Given the description of an element on the screen output the (x, y) to click on. 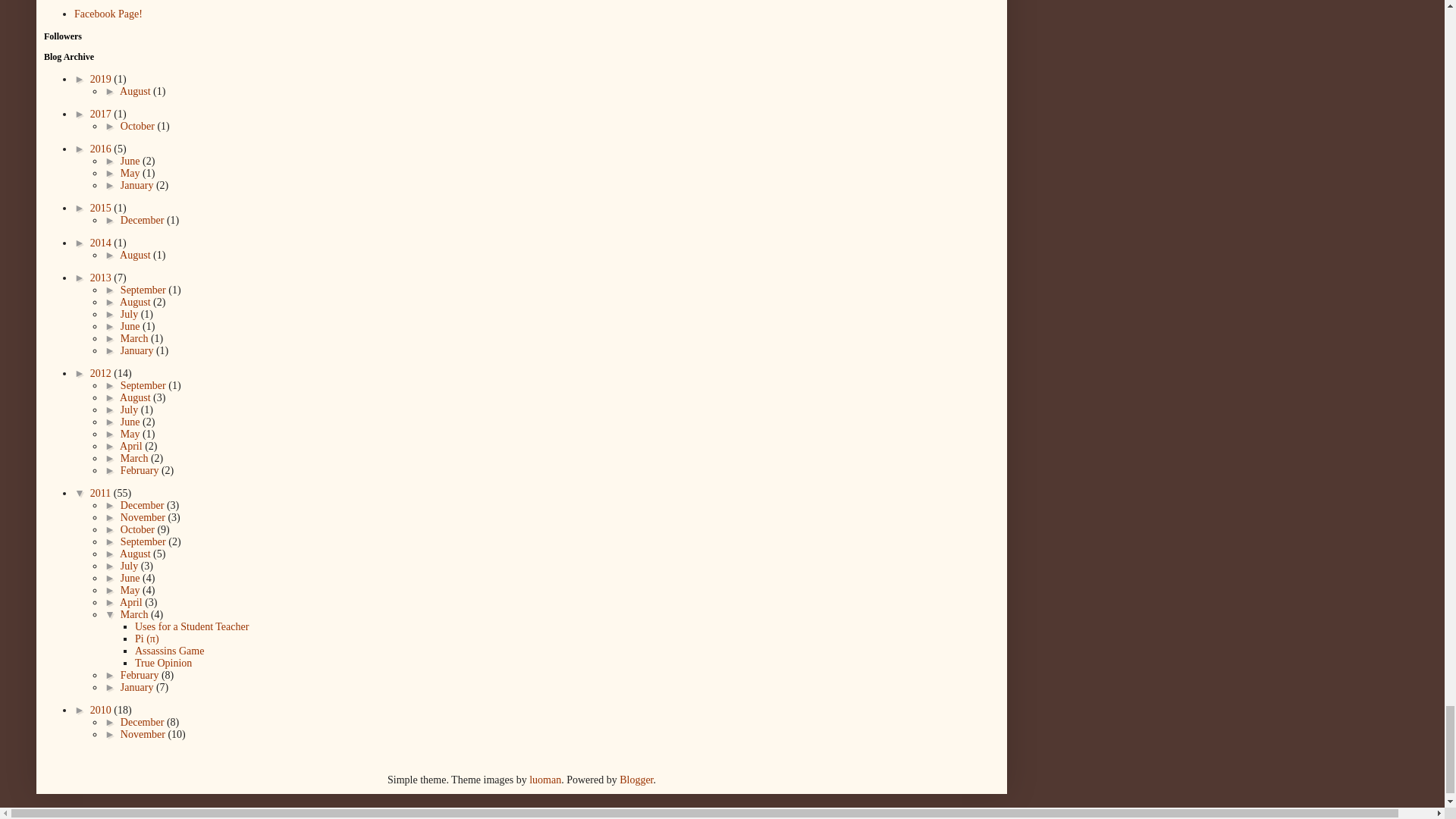
August (135, 91)
Facebook Page! (108, 13)
2019 (102, 79)
